Given the description of an element on the screen output the (x, y) to click on. 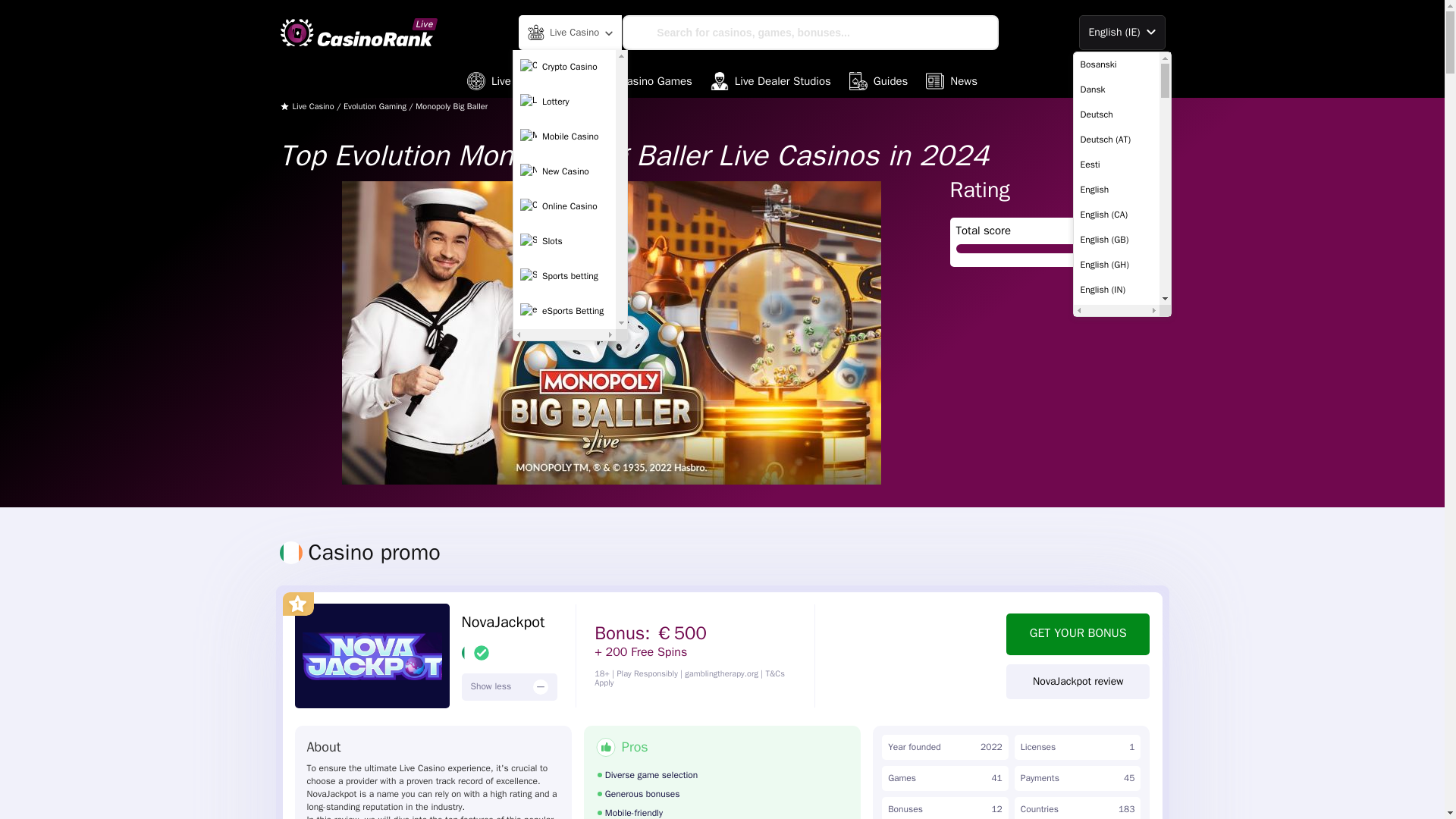
Bosanski (1116, 63)
Dansk (1116, 89)
Deutsch (1116, 113)
Lottery (564, 102)
Sports betting (564, 276)
Eesti (1116, 163)
Slots (564, 241)
New Casino (564, 172)
Online Casino (564, 206)
Crypto Casino (564, 67)
